Given the description of an element on the screen output the (x, y) to click on. 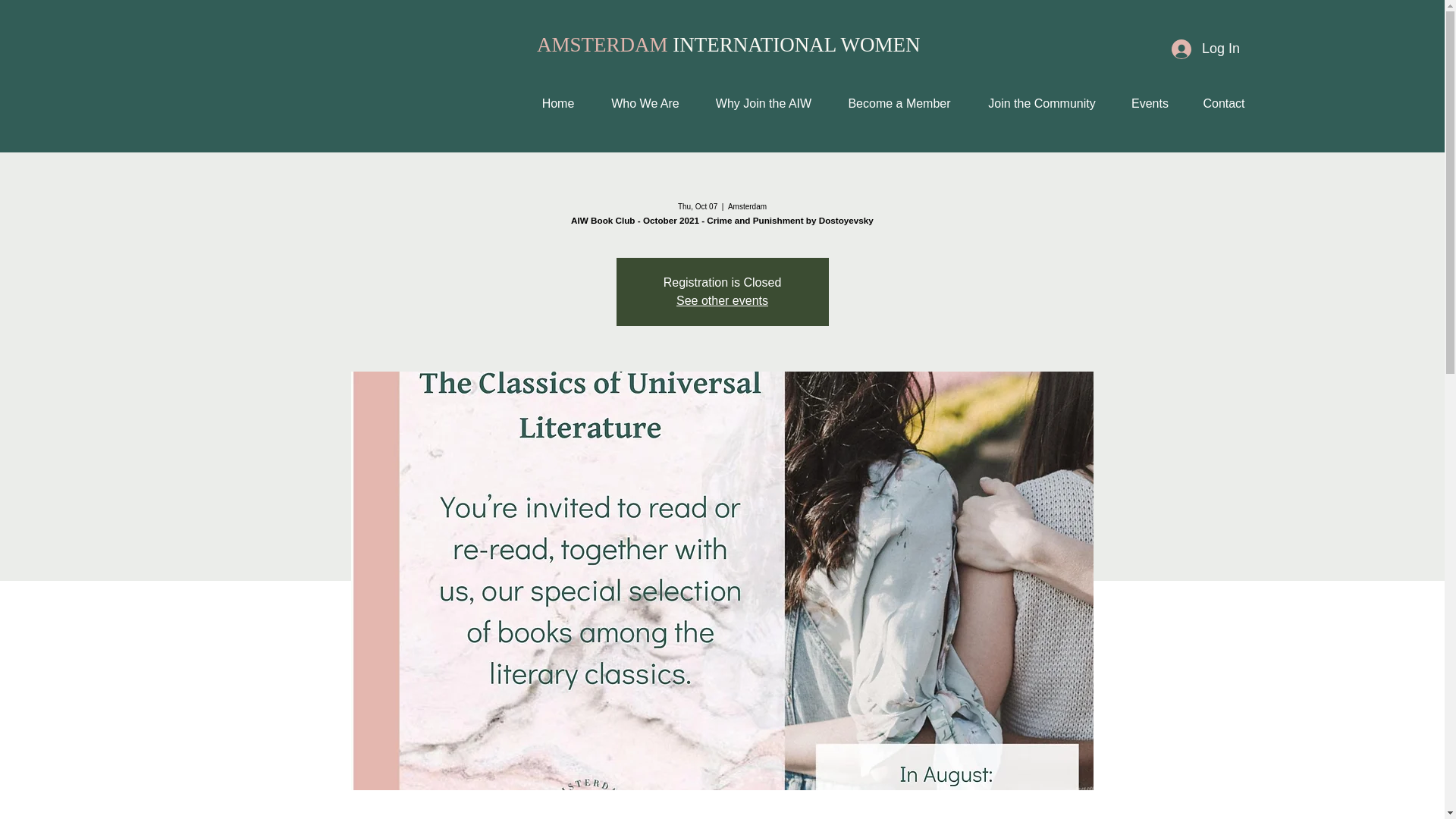
Contact (1223, 103)
Why Join the AIW (763, 103)
Join the Community (1042, 103)
Become a Member (899, 103)
AMSTERDAM INTERNATIONAL WOMEN (728, 44)
See other events (722, 300)
Home (557, 103)
Events (1150, 103)
Who We Are (644, 103)
Log In (1205, 49)
